Given the description of an element on the screen output the (x, y) to click on. 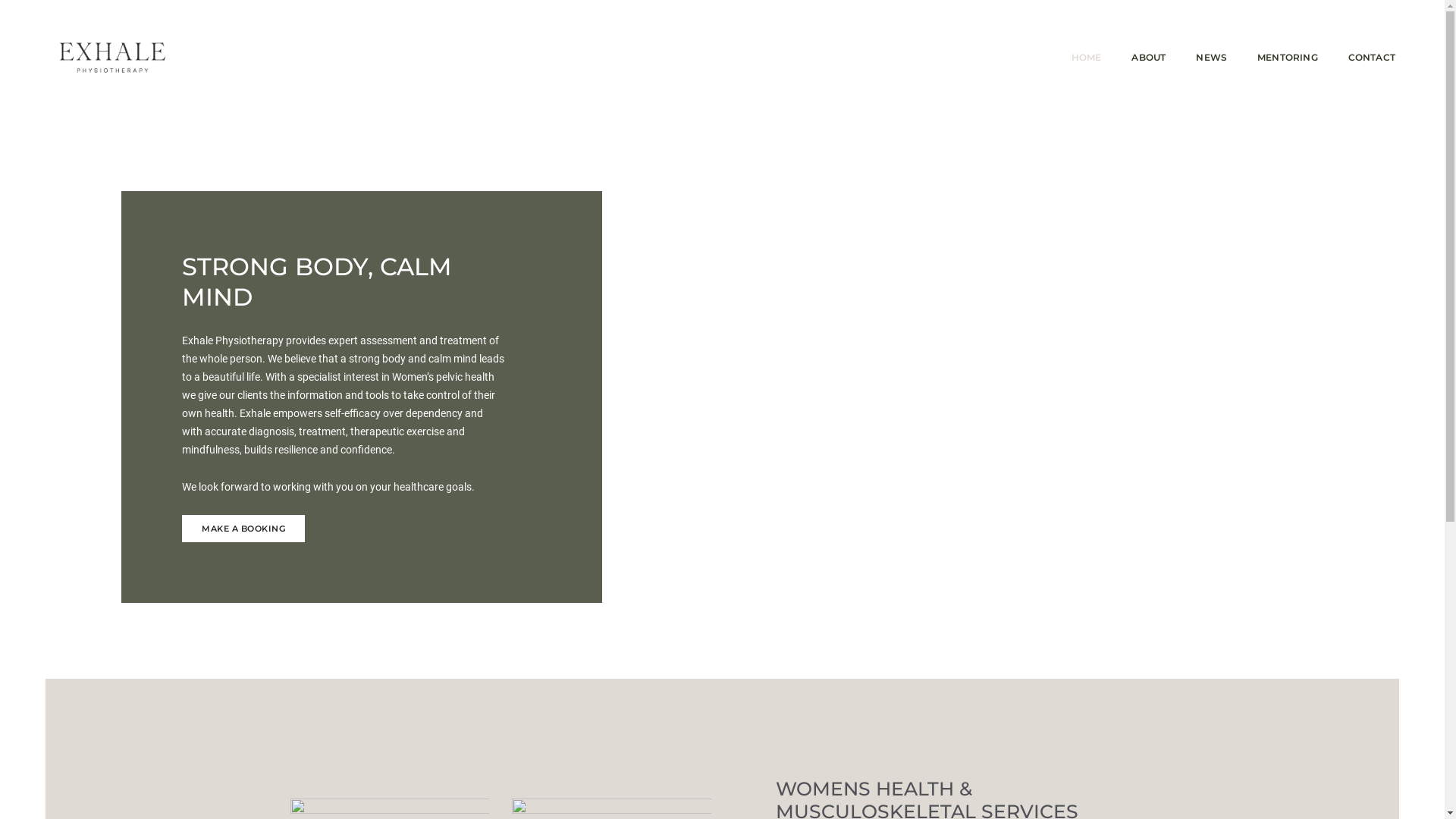
ABOUT Element type: text (1148, 57)
MAKE A BOOKING Element type: text (243, 528)
MENTORING Element type: text (1287, 57)
CONTACT Element type: text (1371, 57)
HOME Element type: text (1086, 57)
NEWS Element type: text (1210, 57)
Exhale Physiotherapy Element type: hover (112, 56)
